Given the description of an element on the screen output the (x, y) to click on. 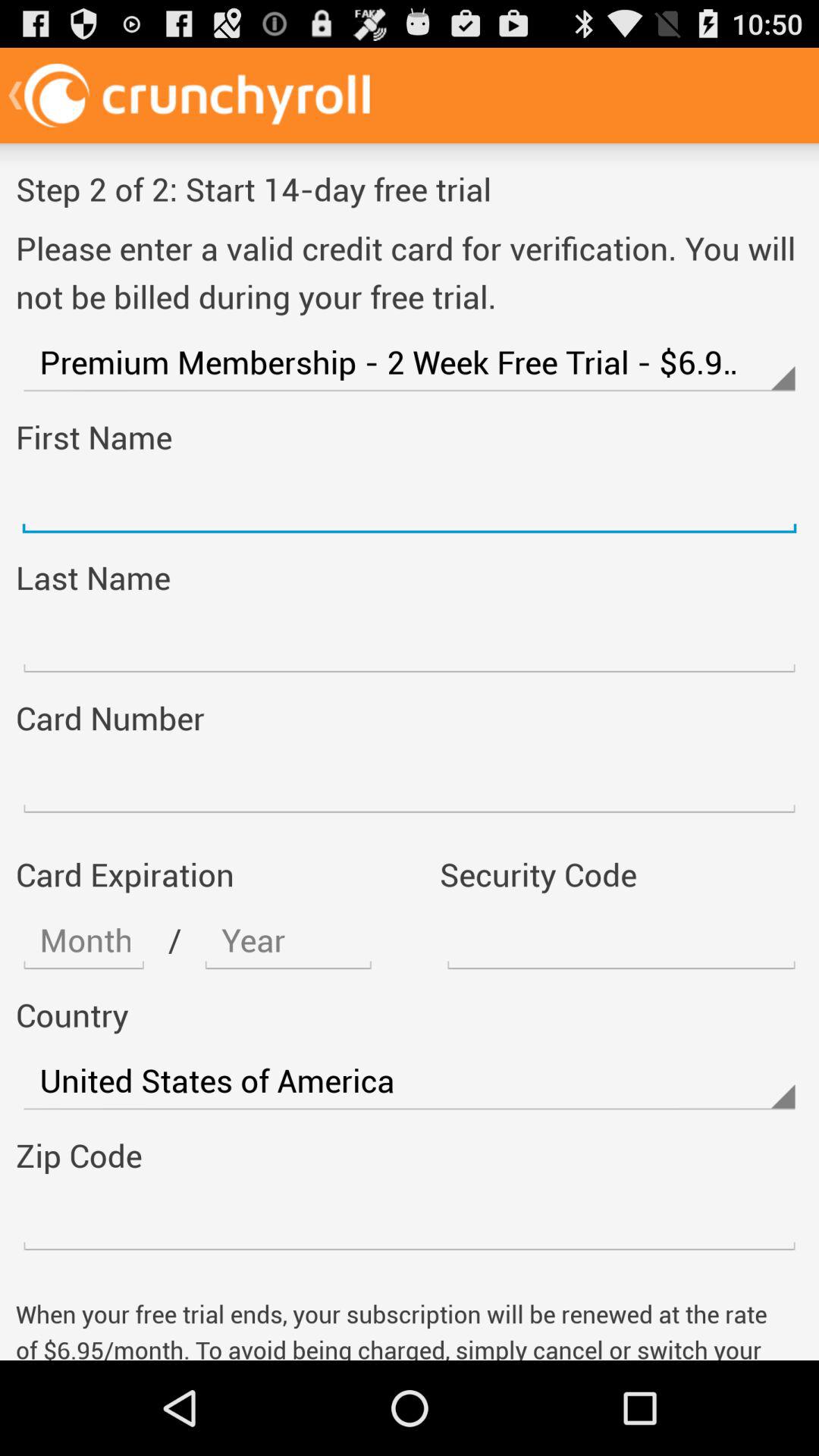
new page (409, 643)
